Given the description of an element on the screen output the (x, y) to click on. 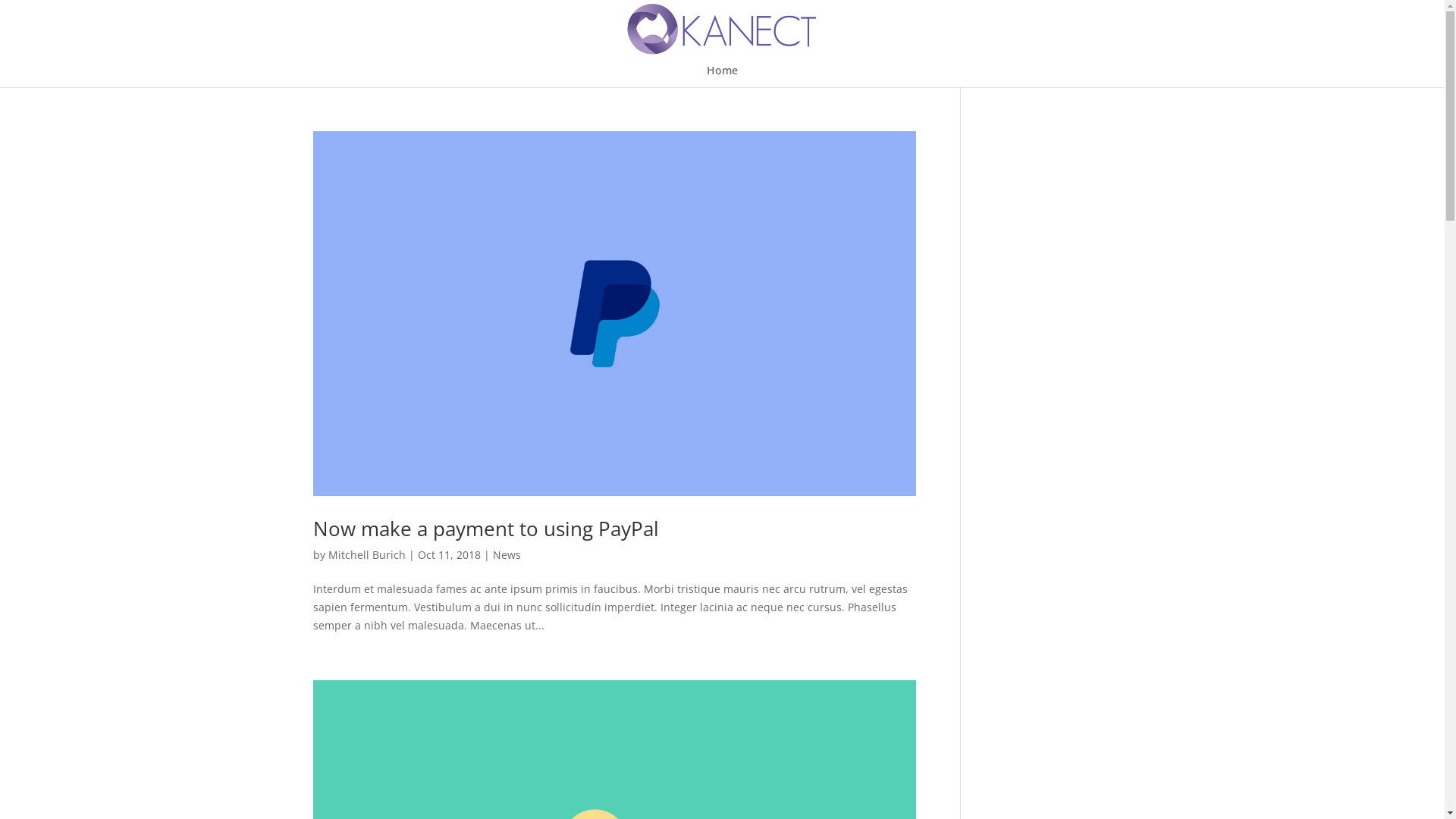
News Element type: text (506, 554)
Now make a payment to using PayPal Element type: text (485, 528)
Mitchell Burich Element type: text (365, 554)
Home Element type: text (721, 76)
